Given the description of an element on the screen output the (x, y) to click on. 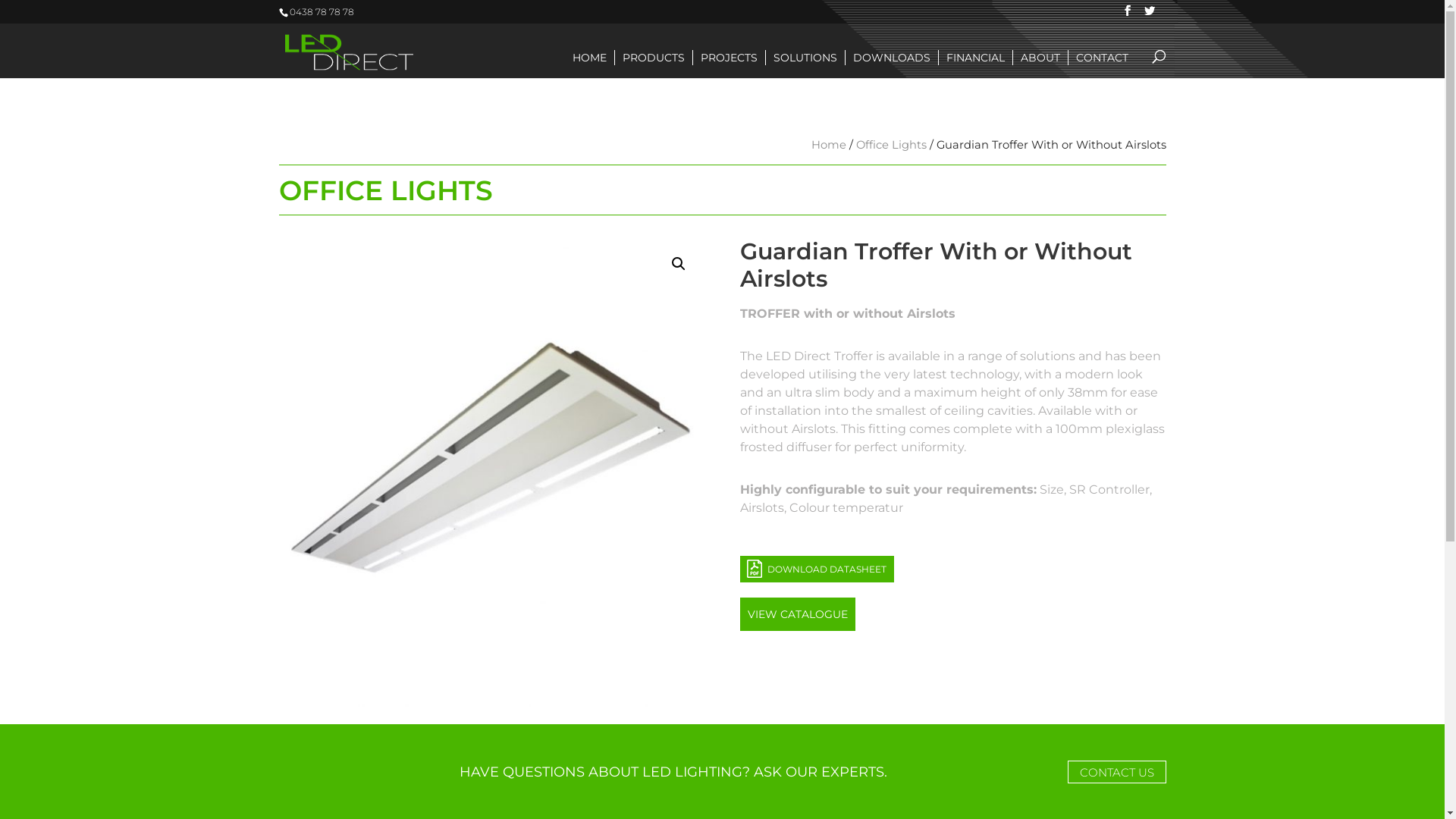
OFFICE LIGHTS Element type: text (385, 190)
VIEW CATALOGUE Element type: text (797, 614)
ABOUT Element type: text (1040, 57)
PROJECTS Element type: text (728, 57)
CONTACT Element type: text (1101, 57)
Home Element type: text (828, 144)
CONTACT US Element type: text (1116, 771)
FINANCIAL Element type: text (975, 57)
PRODUCTS Element type: text (652, 57)
Office Lights Element type: text (890, 144)
DOWNLOAD DATASHEET Element type: text (817, 568)
DOWNLOADS Element type: text (890, 57)
SOLUTIONS Element type: text (805, 57)
Guardian-Troffer-With-or-Without-Airslots Element type: hover (492, 472)
HOME Element type: text (588, 57)
